Given the description of an element on the screen output the (x, y) to click on. 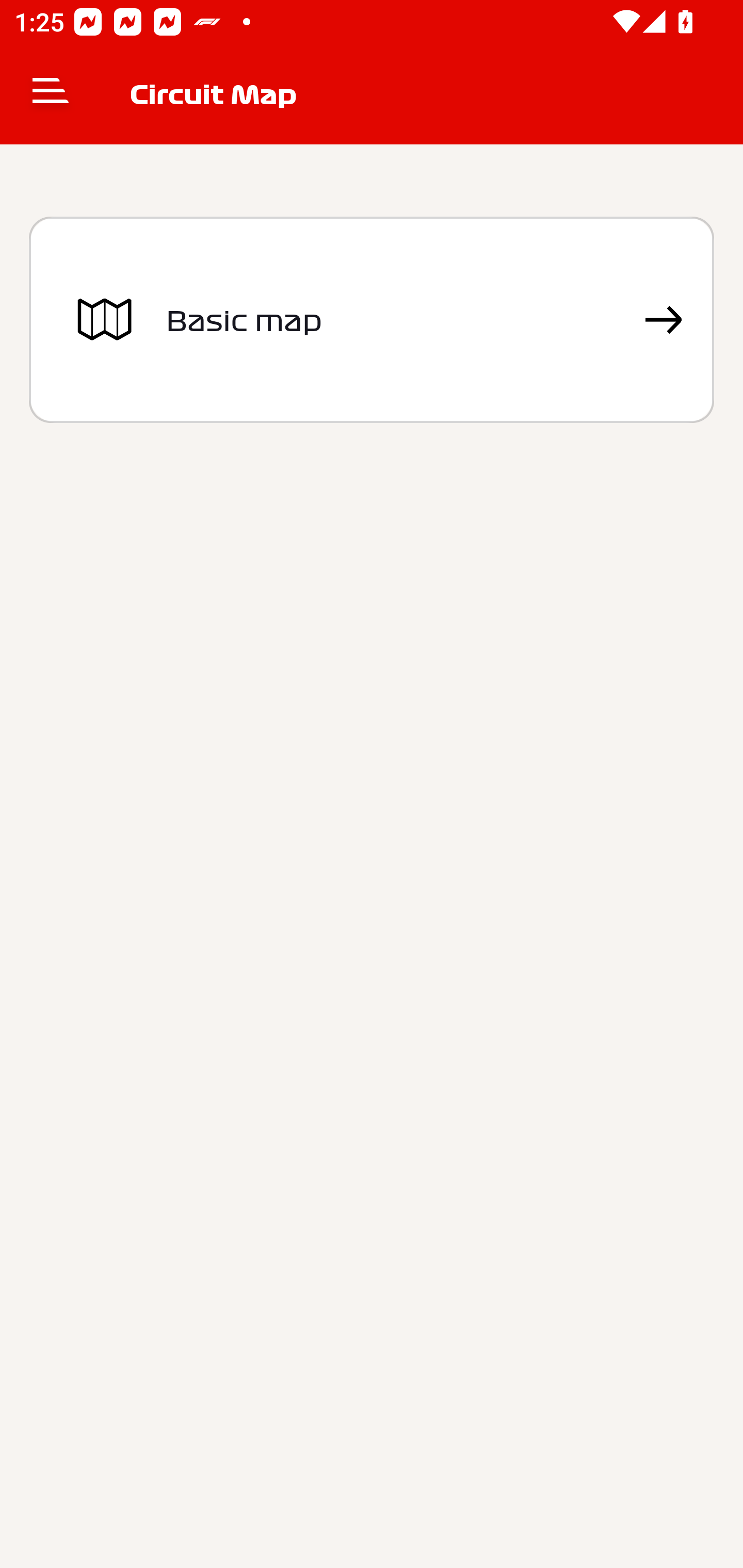
Navigate up (50, 93)
Basic map (371, 319)
